Given the description of an element on the screen output the (x, y) to click on. 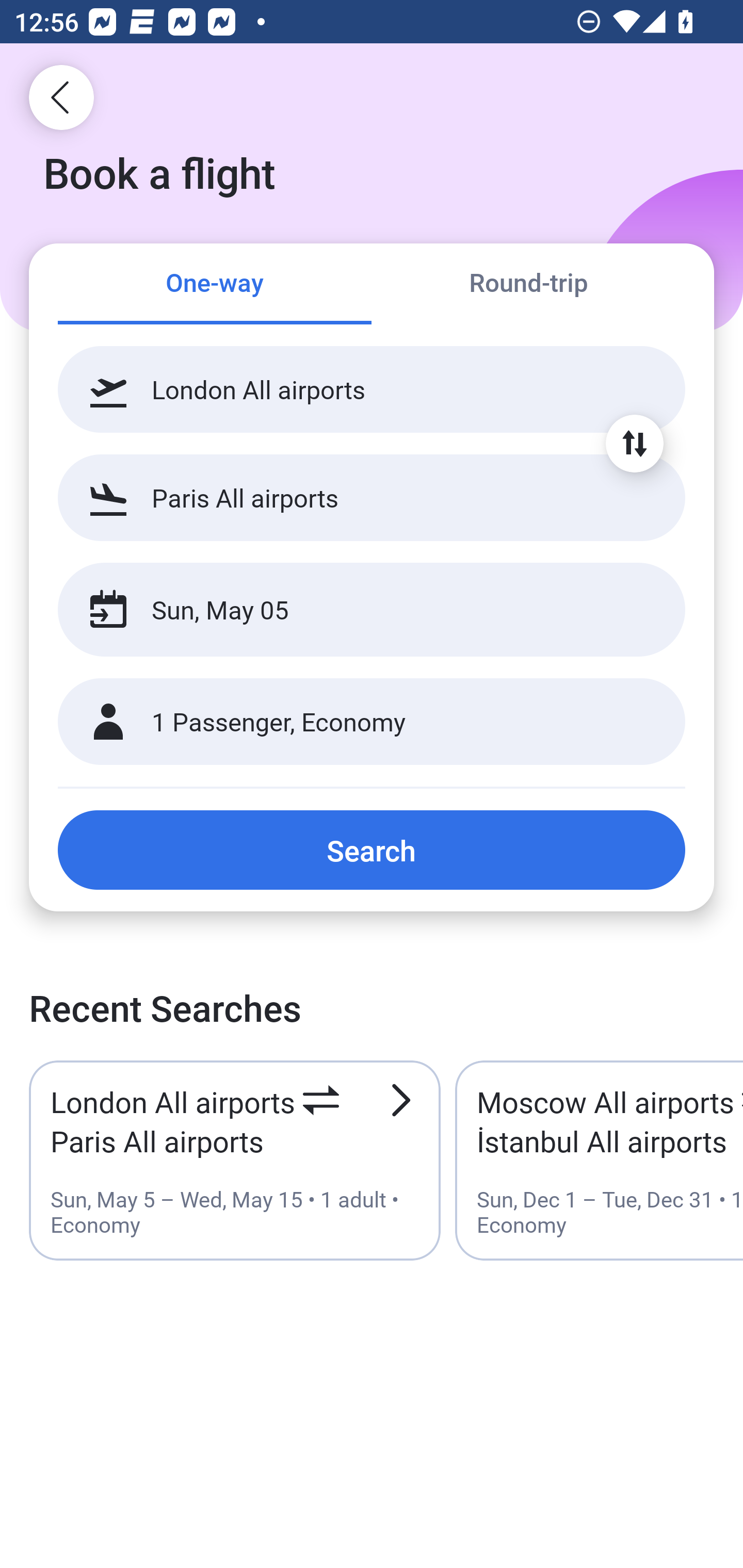
Round-trip (528, 284)
London All airports (371, 389)
Paris All airports (371, 497)
Sun, May 05 (349, 609)
1 Passenger, Economy (371, 721)
Search (371, 849)
